Given the description of an element on the screen output the (x, y) to click on. 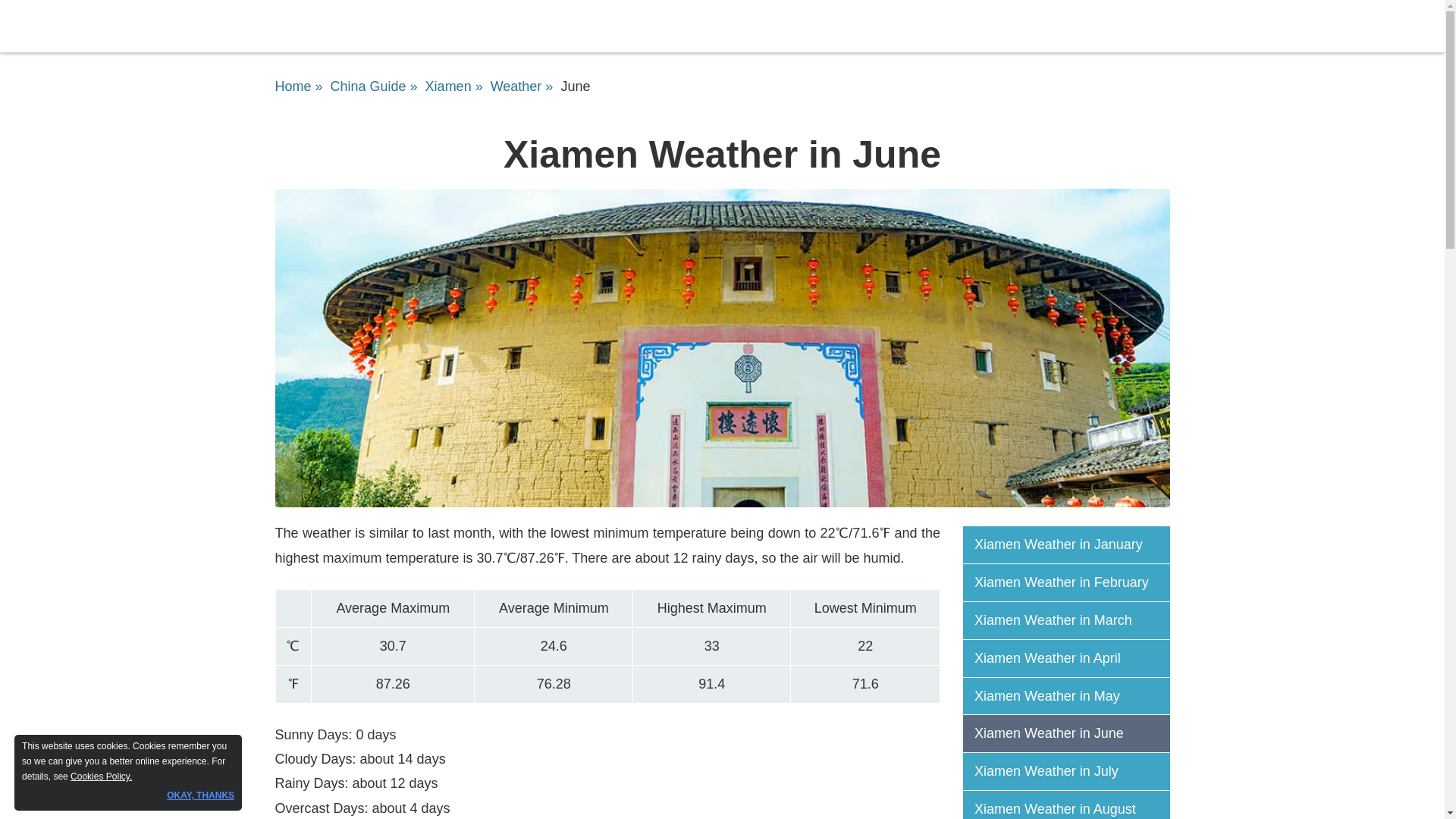
OKAY, THANKS (200, 795)
Xiamen Weather in August (1072, 808)
Xiamen Weather in March (1072, 620)
Xiamen Weather in June (1072, 733)
Xiamen Weather in February (1072, 582)
Xiamen Weather in April (1072, 658)
Xiamen Weather in January (1072, 544)
Cookies Policy. (100, 776)
Xiamen Weather in May (1072, 696)
Xiamen Weather in July (1072, 771)
